Given the description of an element on the screen output the (x, y) to click on. 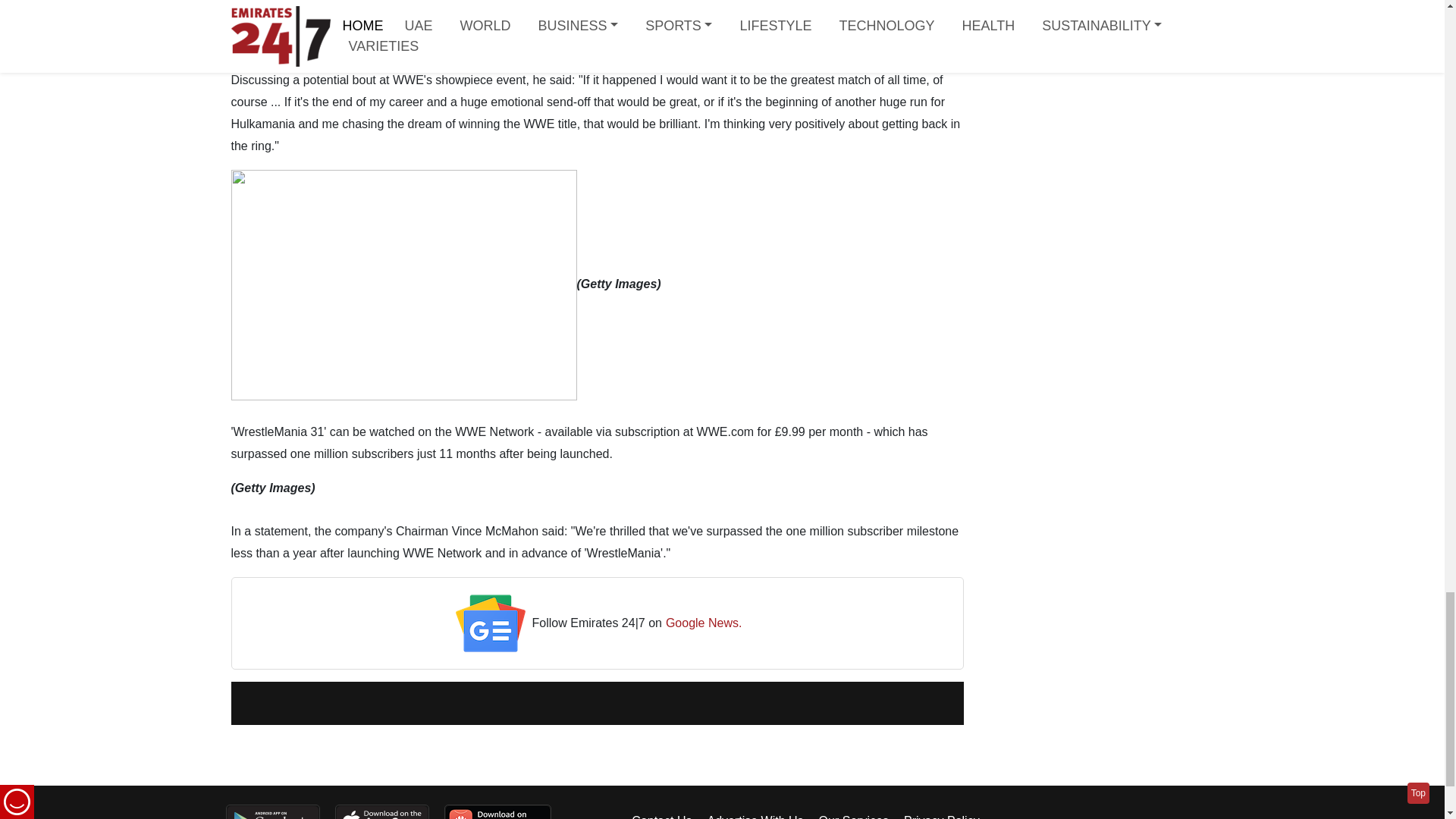
Google News. (703, 623)
